Given the description of an element on the screen output the (x, y) to click on. 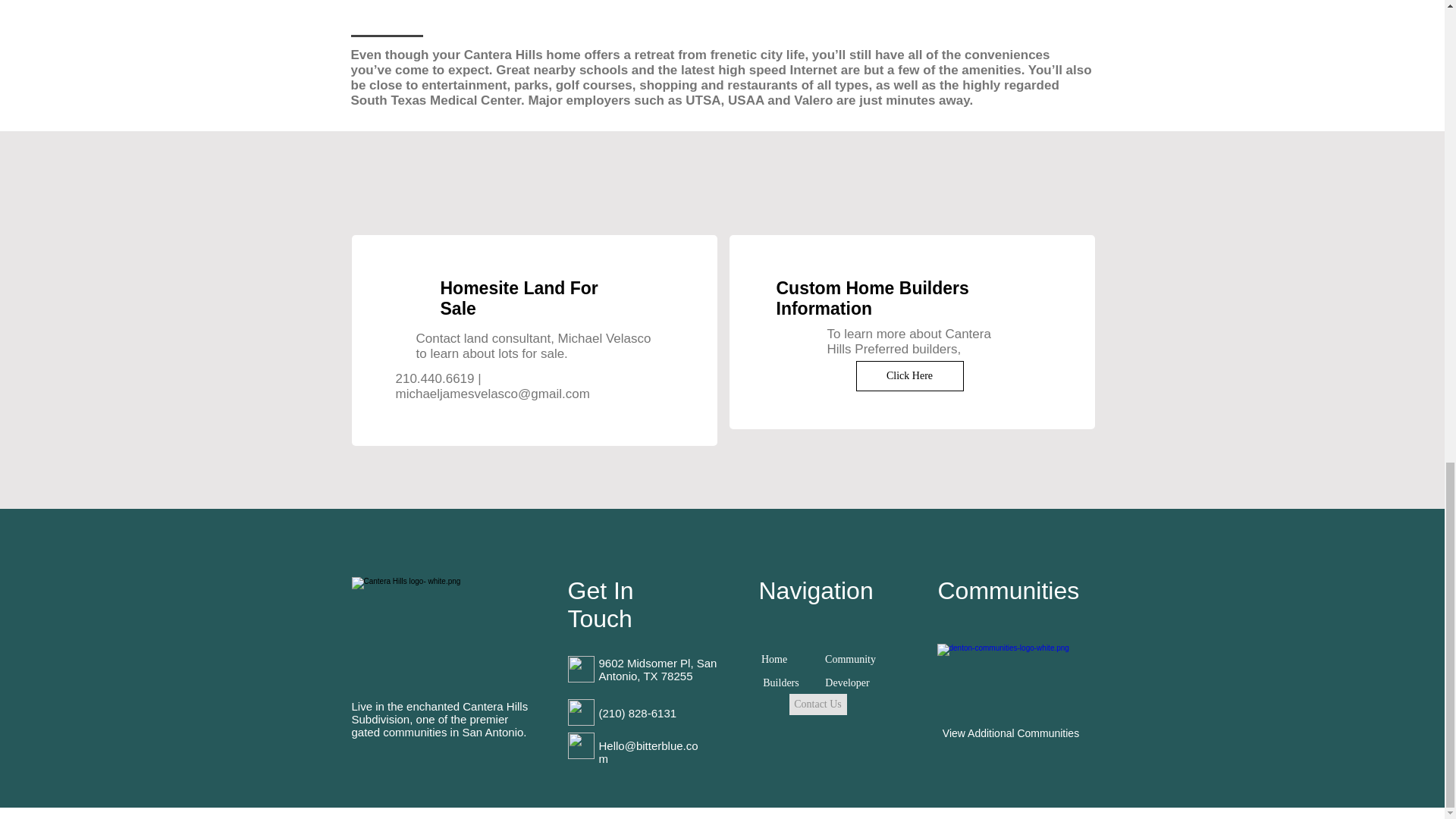
Click Here (909, 376)
Builders (780, 682)
Contact Us (817, 703)
View Additional Communities (1010, 732)
Community (850, 659)
Home (773, 659)
Developer (847, 682)
